Given the description of an element on the screen output the (x, y) to click on. 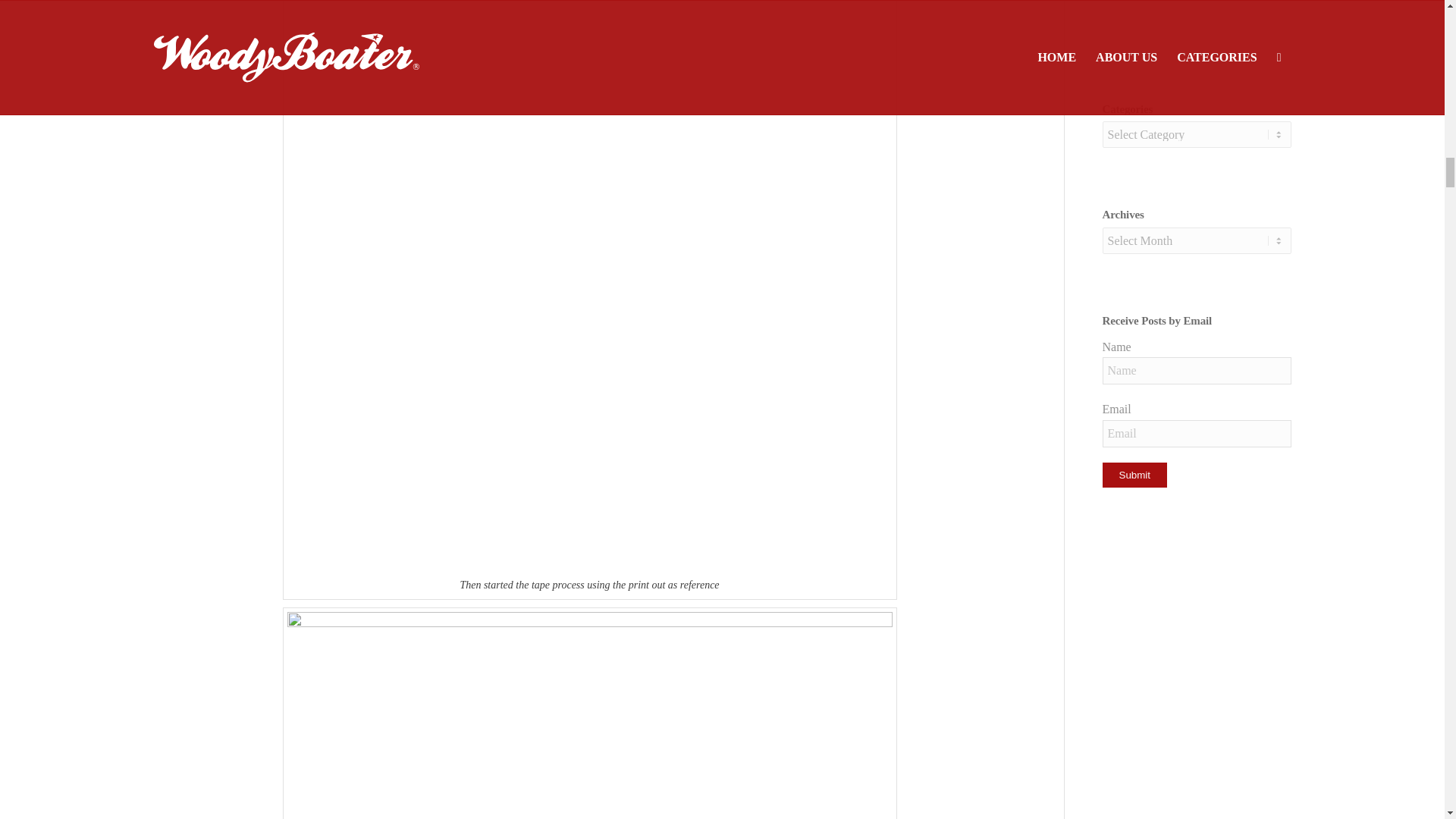
Submit (1134, 474)
